Given the description of an element on the screen output the (x, y) to click on. 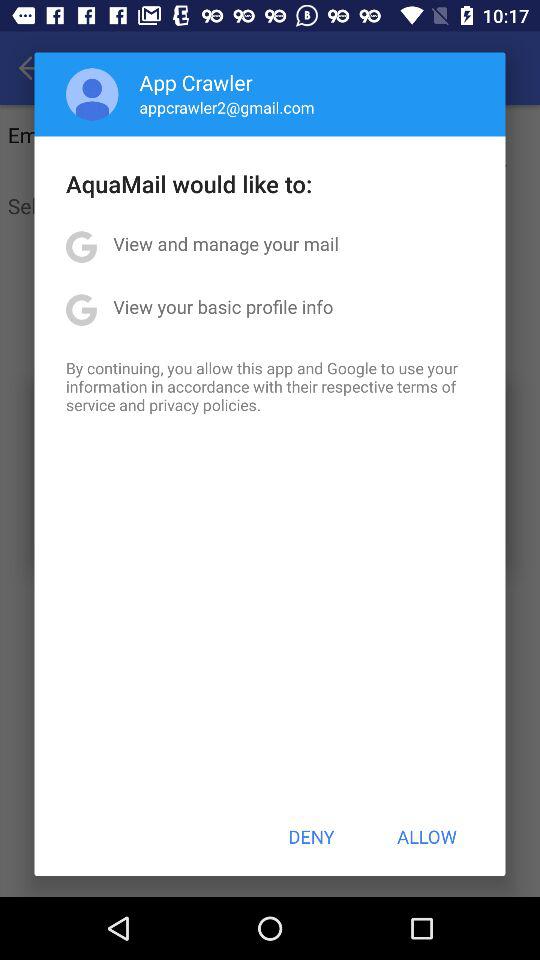
click the view and manage app (225, 243)
